Given the description of an element on the screen output the (x, y) to click on. 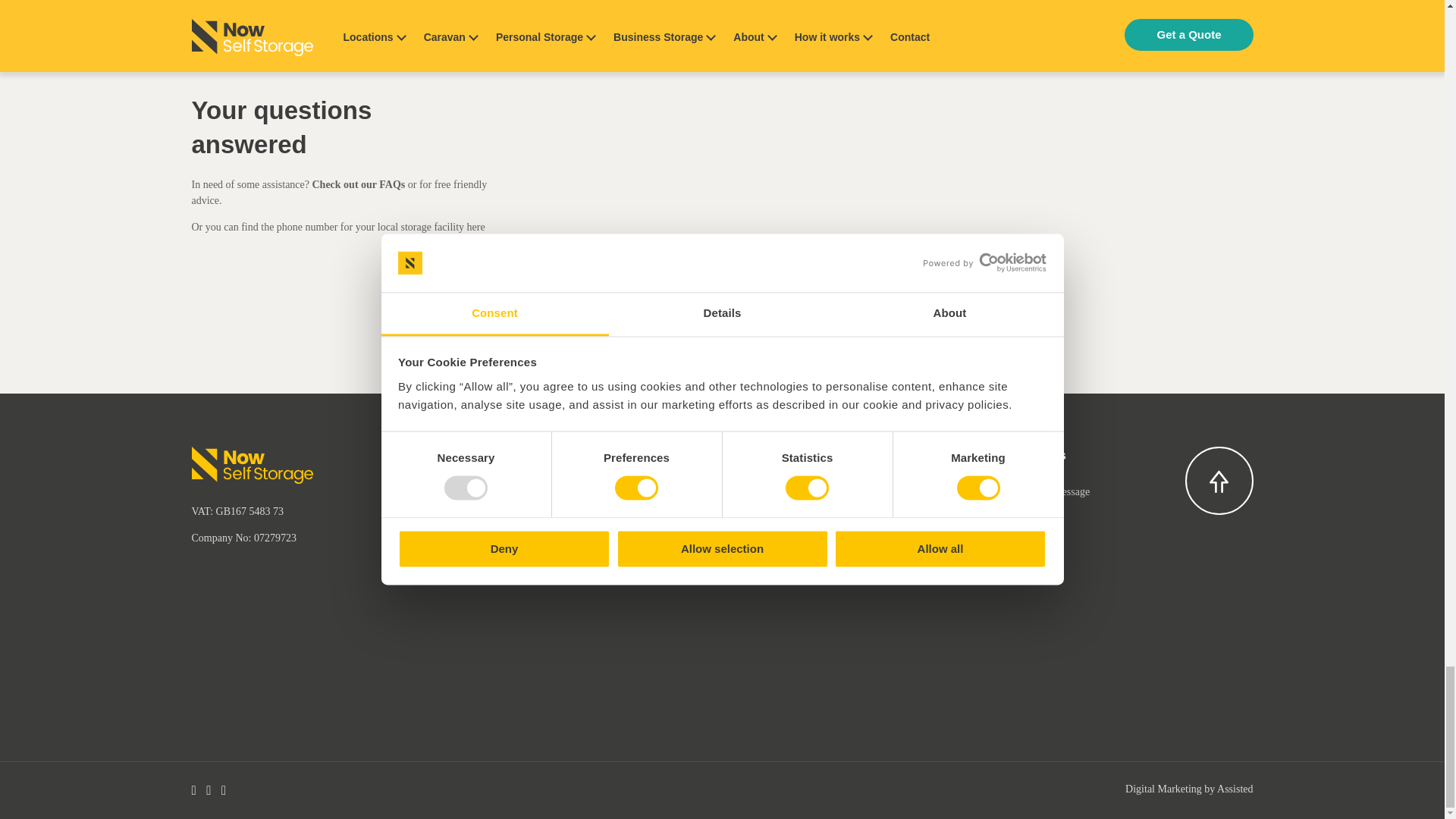
Facebook (192, 790)
Now Storage (251, 467)
Twitter (208, 790)
